Given the description of an element on the screen output the (x, y) to click on. 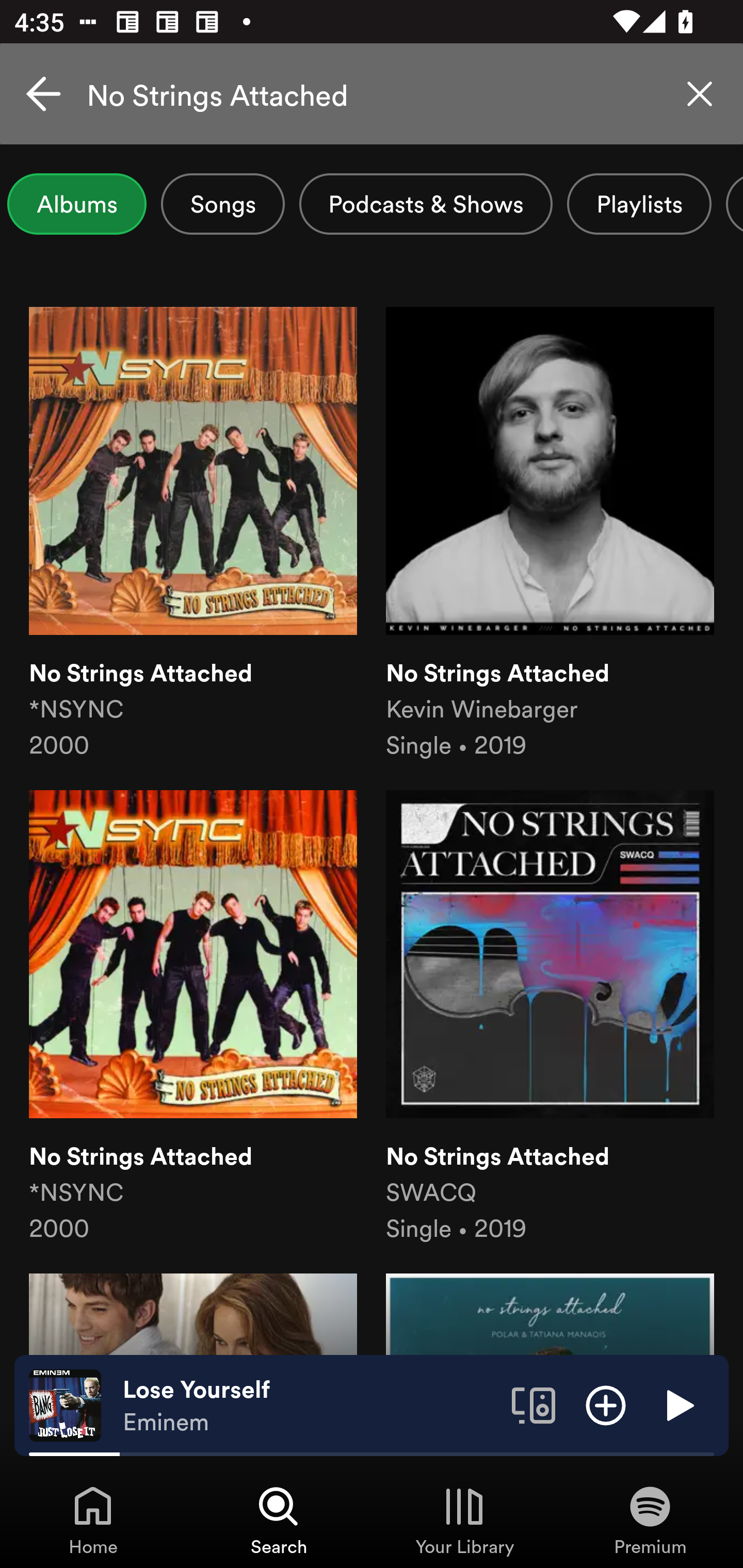
No Strings Attached (371, 93)
Cancel (43, 93)
Clear search query (699, 93)
Albums (76, 203)
Songs (222, 203)
Podcasts & Shows (425, 203)
Playlists (638, 203)
No Strings Attached *NSYNC 2000 (192, 534)
No Strings Attached Kevin Winebarger Single • 2019 (549, 534)
No Strings Attached *NSYNC 2000 (192, 1017)
No Strings Attached SWACQ Single • 2019 (549, 1017)
Lose Yourself Eminem (309, 1405)
The cover art of the currently playing track (64, 1404)
Connect to a device. Opens the devices menu (533, 1404)
Add item (605, 1404)
Play (677, 1404)
Home, Tab 1 of 4 Home Home (92, 1519)
Search, Tab 2 of 4 Search Search (278, 1519)
Your Library, Tab 3 of 4 Your Library Your Library (464, 1519)
Premium, Tab 4 of 4 Premium Premium (650, 1519)
